Given the description of an element on the screen output the (x, y) to click on. 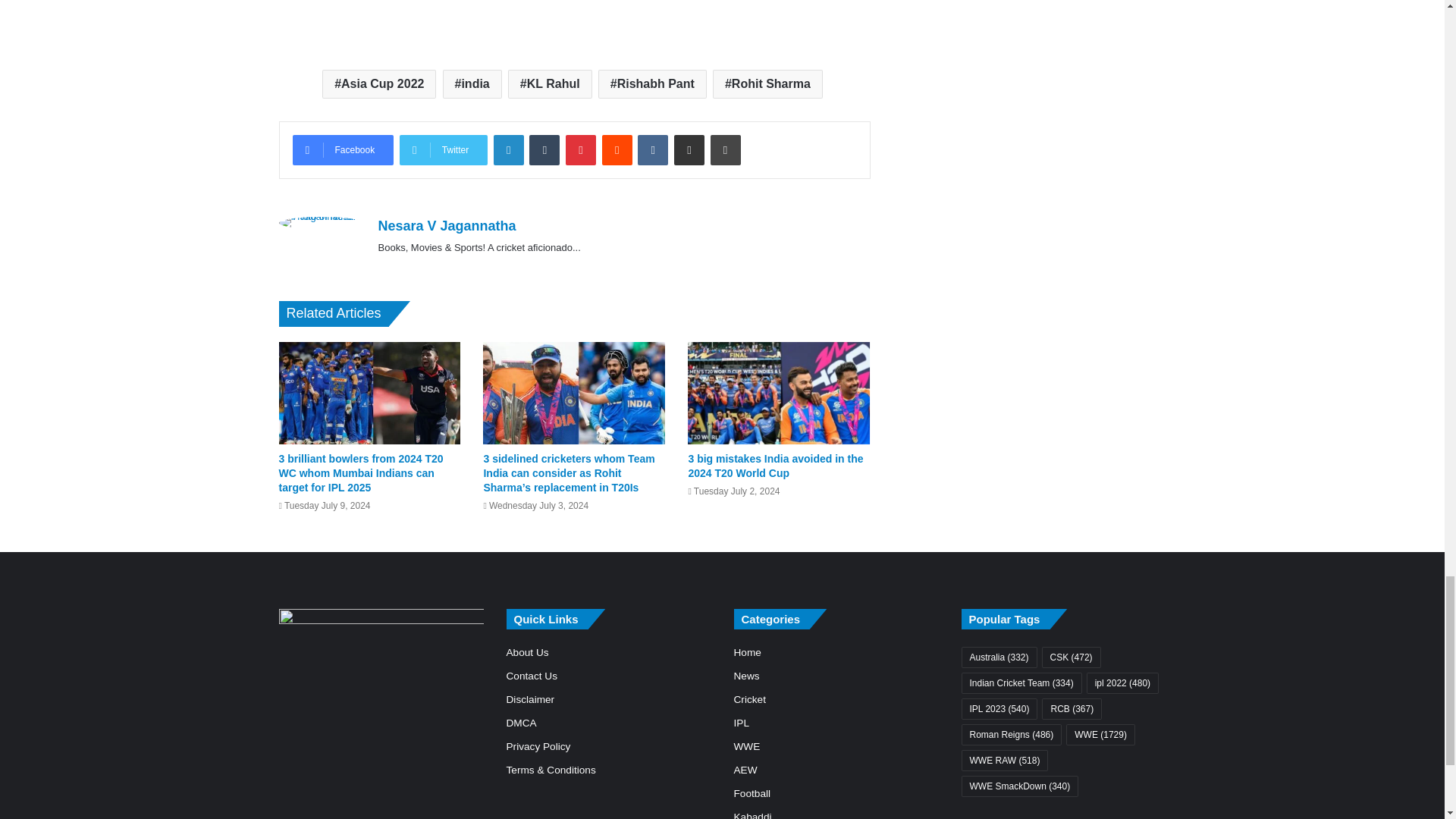
Facebook (343, 150)
Tumblr (544, 150)
VKontakte (652, 150)
LinkedIn (508, 150)
Reddit (616, 150)
Share via Email (689, 150)
Pinterest (580, 150)
Twitter (442, 150)
